Given the description of an element on the screen output the (x, y) to click on. 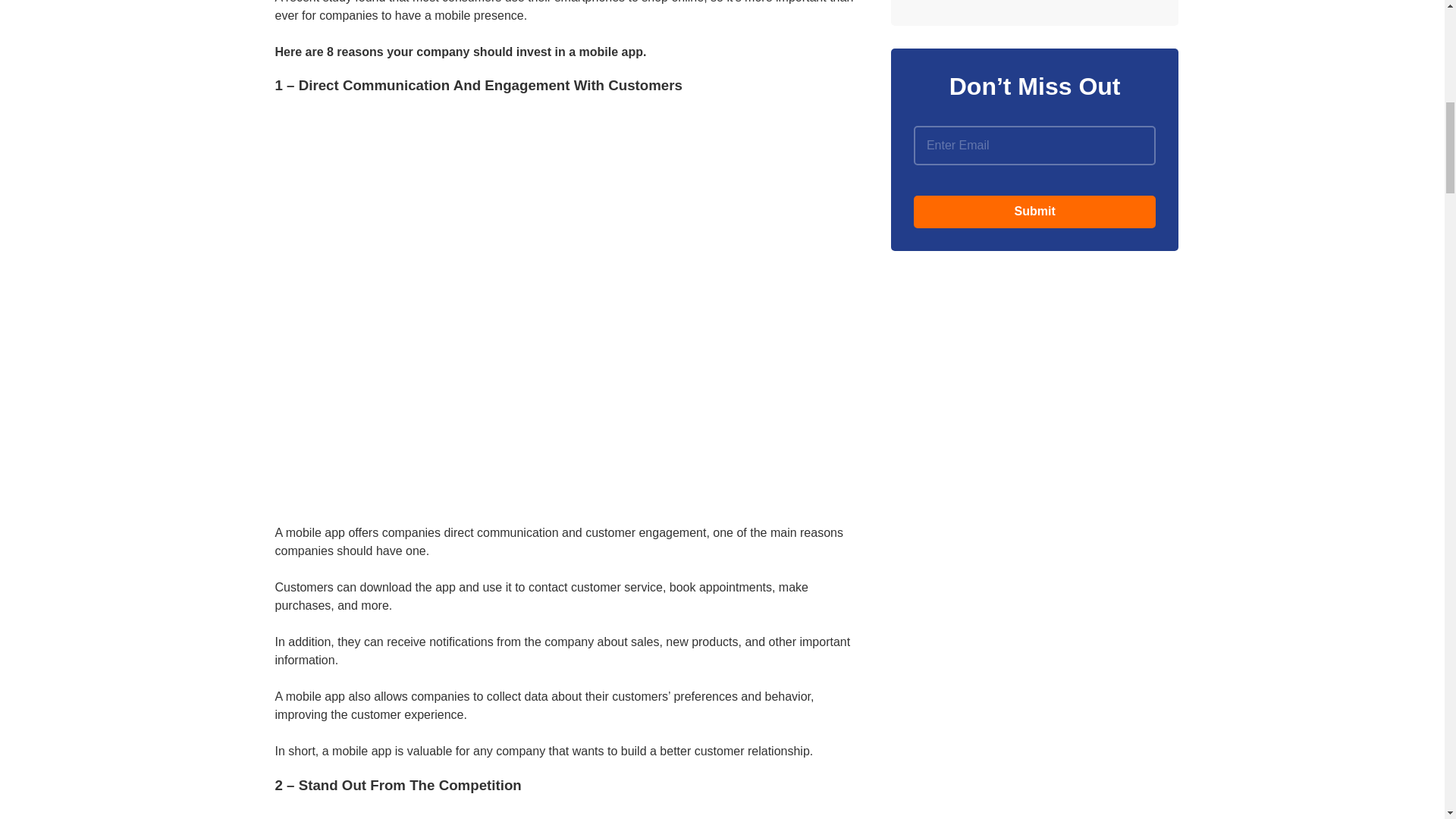
Submit (1035, 211)
